Given the description of an element on the screen output the (x, y) to click on. 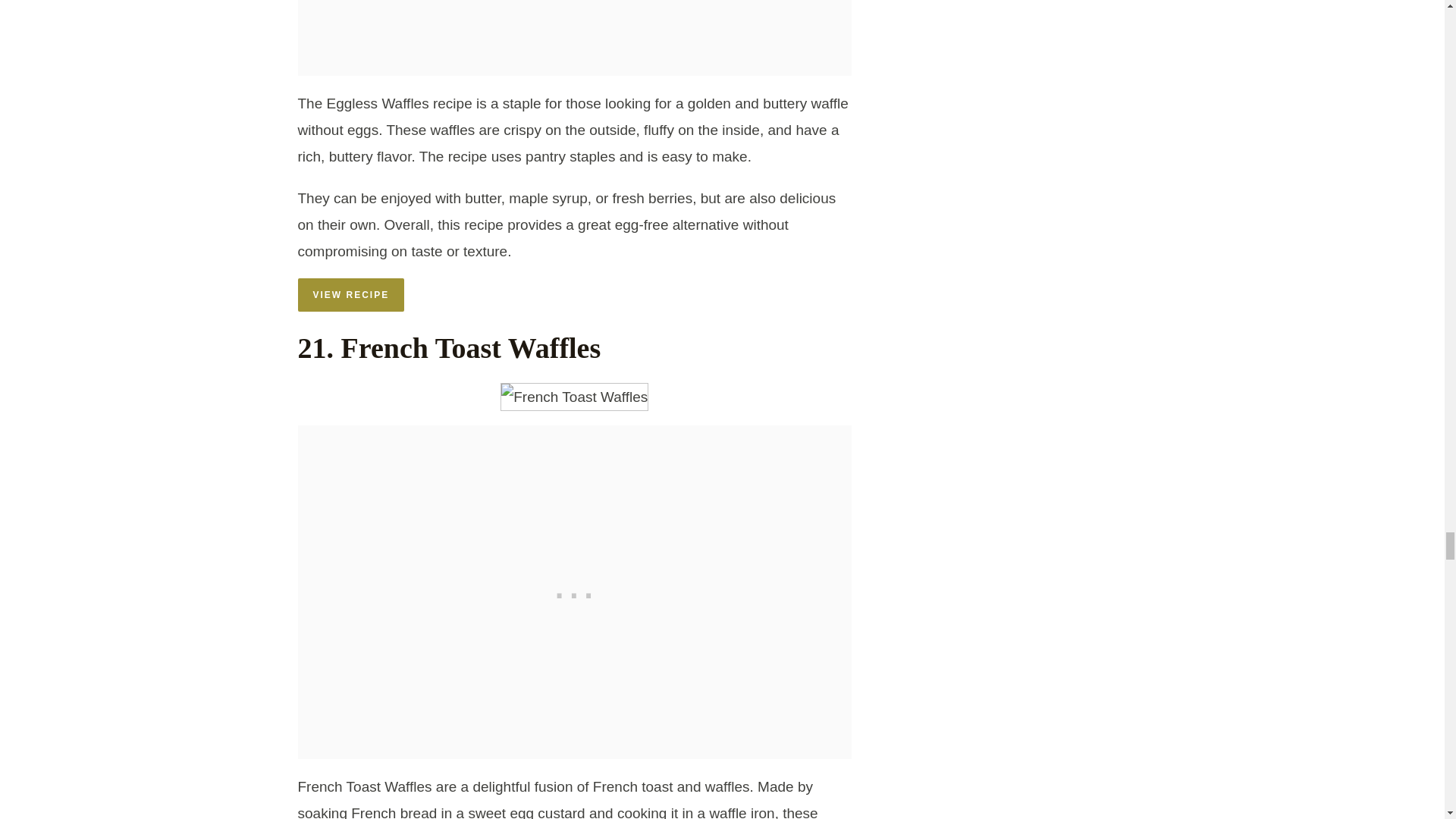
VIEW RECIPE (350, 295)
